Given the description of an element on the screen output the (x, y) to click on. 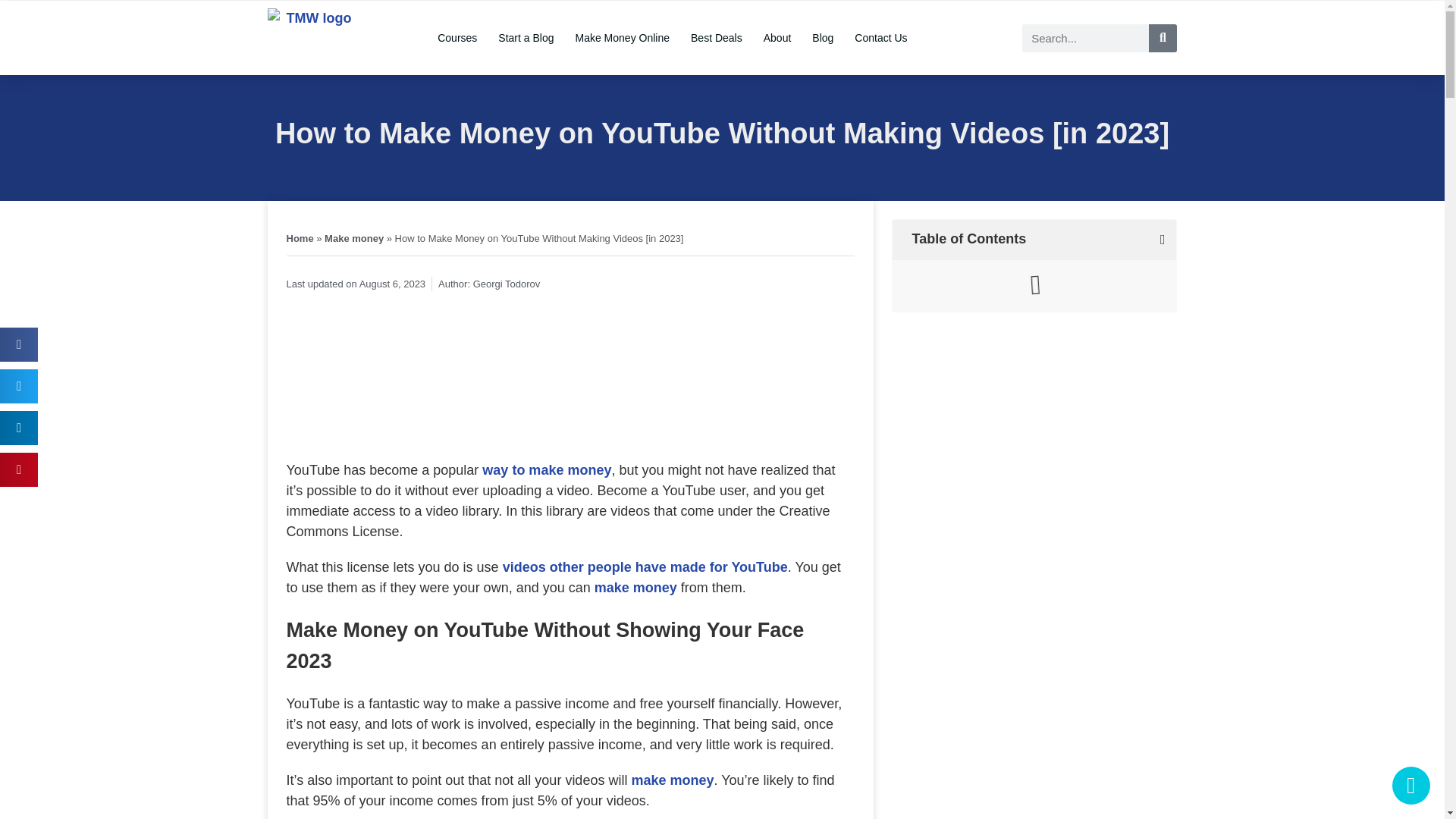
About (777, 37)
Make Money Online (621, 37)
Author: Georgi Todorov (489, 283)
Start a Blog (525, 37)
Home (300, 238)
way to make money (546, 469)
Blog (823, 37)
Contact Us (880, 37)
Best Deals (715, 37)
videos other people have made for YouTube (644, 566)
Make money (354, 238)
Courses (456, 37)
make money (635, 587)
